Given the description of an element on the screen output the (x, y) to click on. 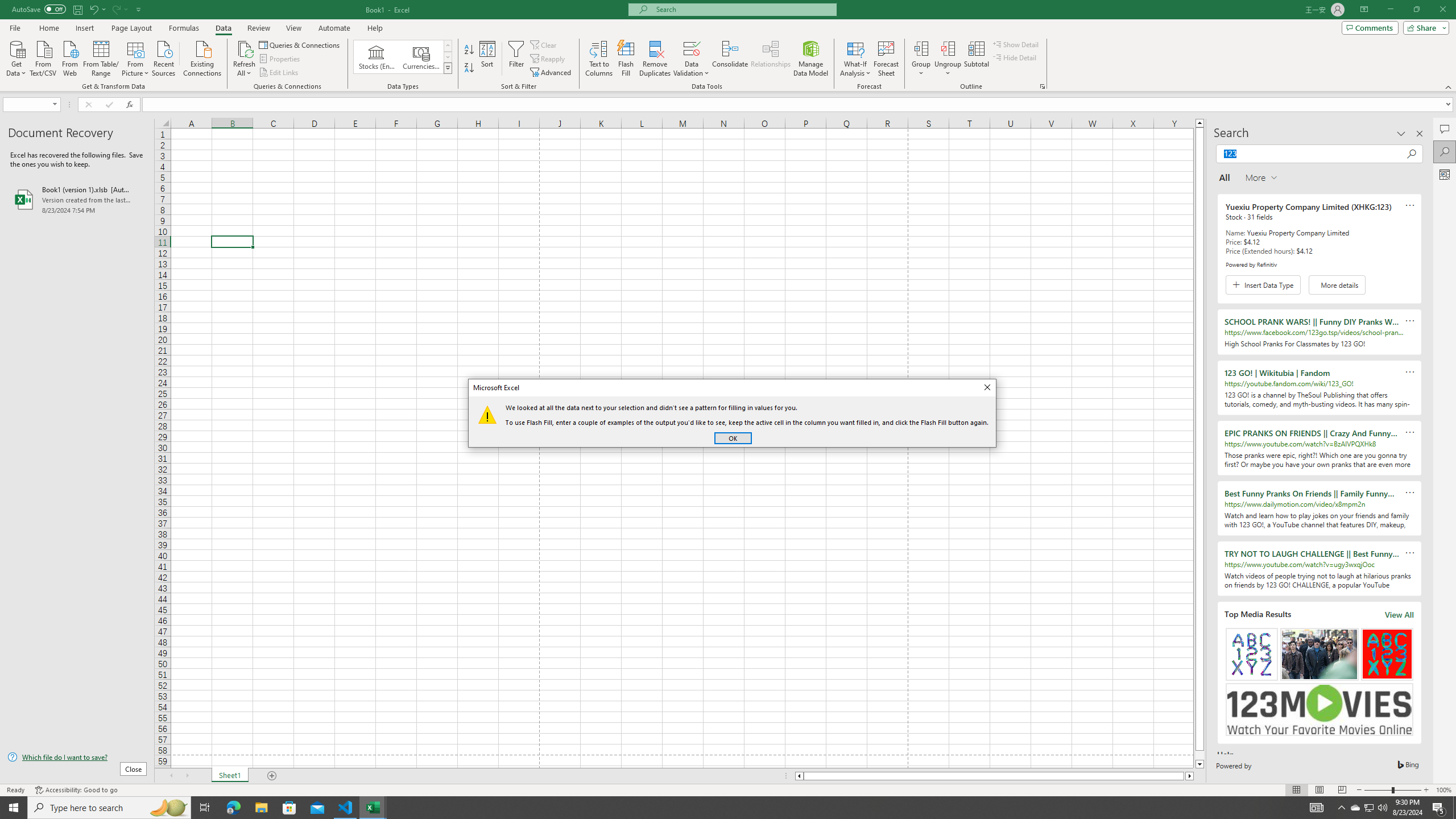
OK (732, 437)
Excel - 2 running windows (373, 807)
Class: Static (487, 414)
